Given the description of an element on the screen output the (x, y) to click on. 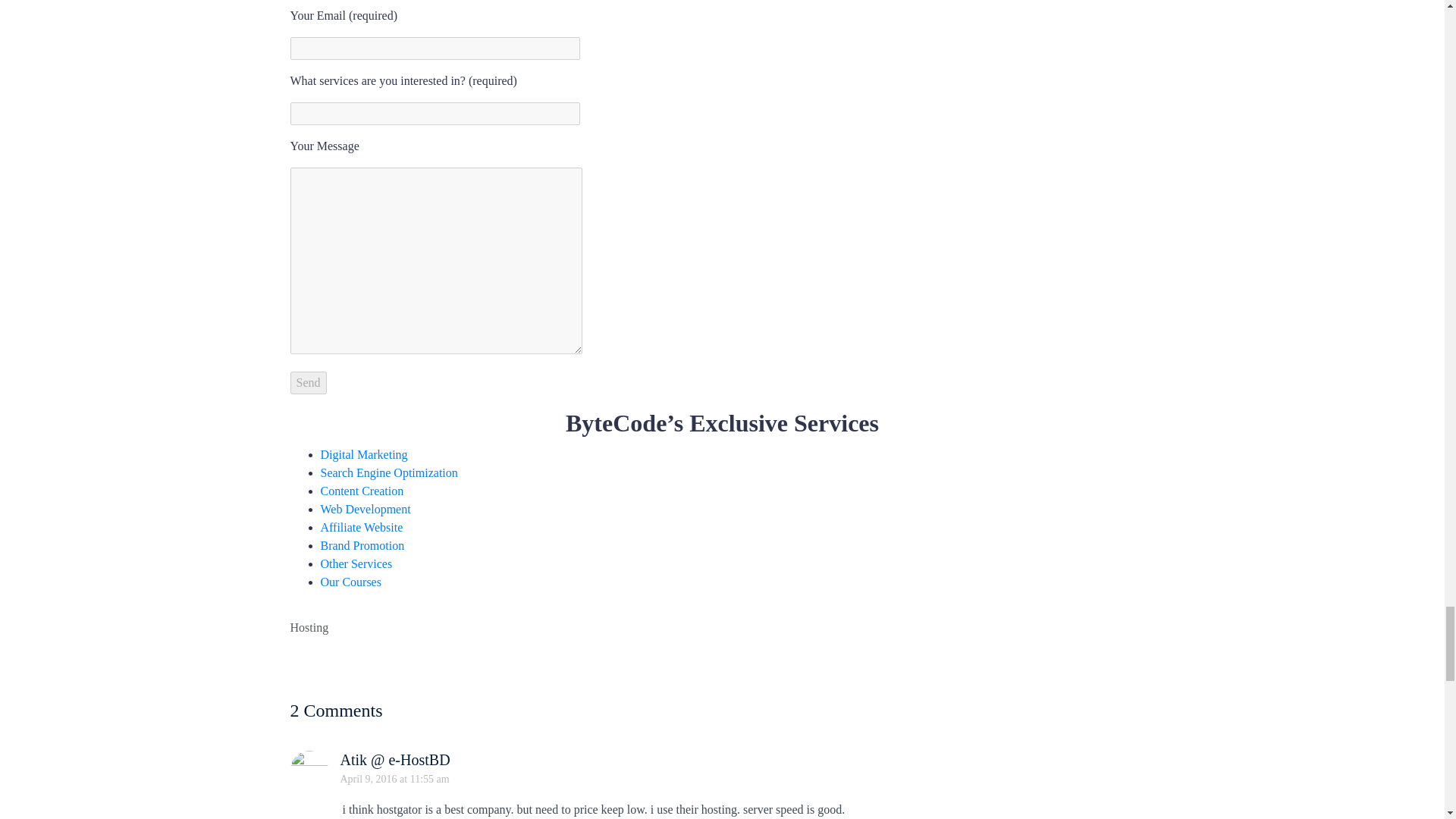
Send (307, 382)
